Given the description of an element on the screen output the (x, y) to click on. 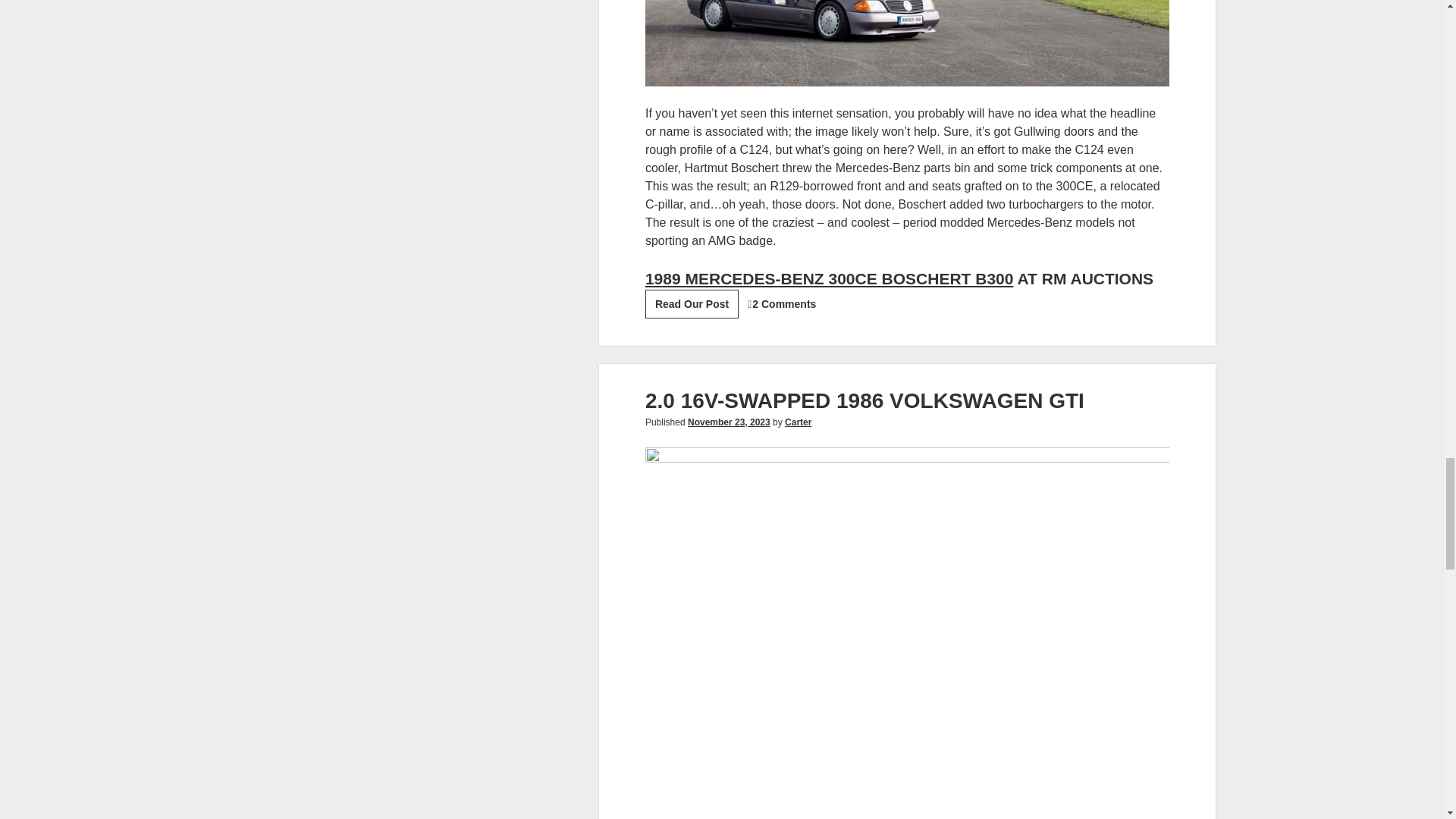
November 23, 2023 (728, 421)
2 Comments (783, 304)
Carter (797, 421)
2.0 16V-SWAPPED 1986 VOLKSWAGEN GTI (864, 400)
1989 MERCEDES-BENZ 300CE BOSCHERT B300 (829, 278)
